Given the description of an element on the screen output the (x, y) to click on. 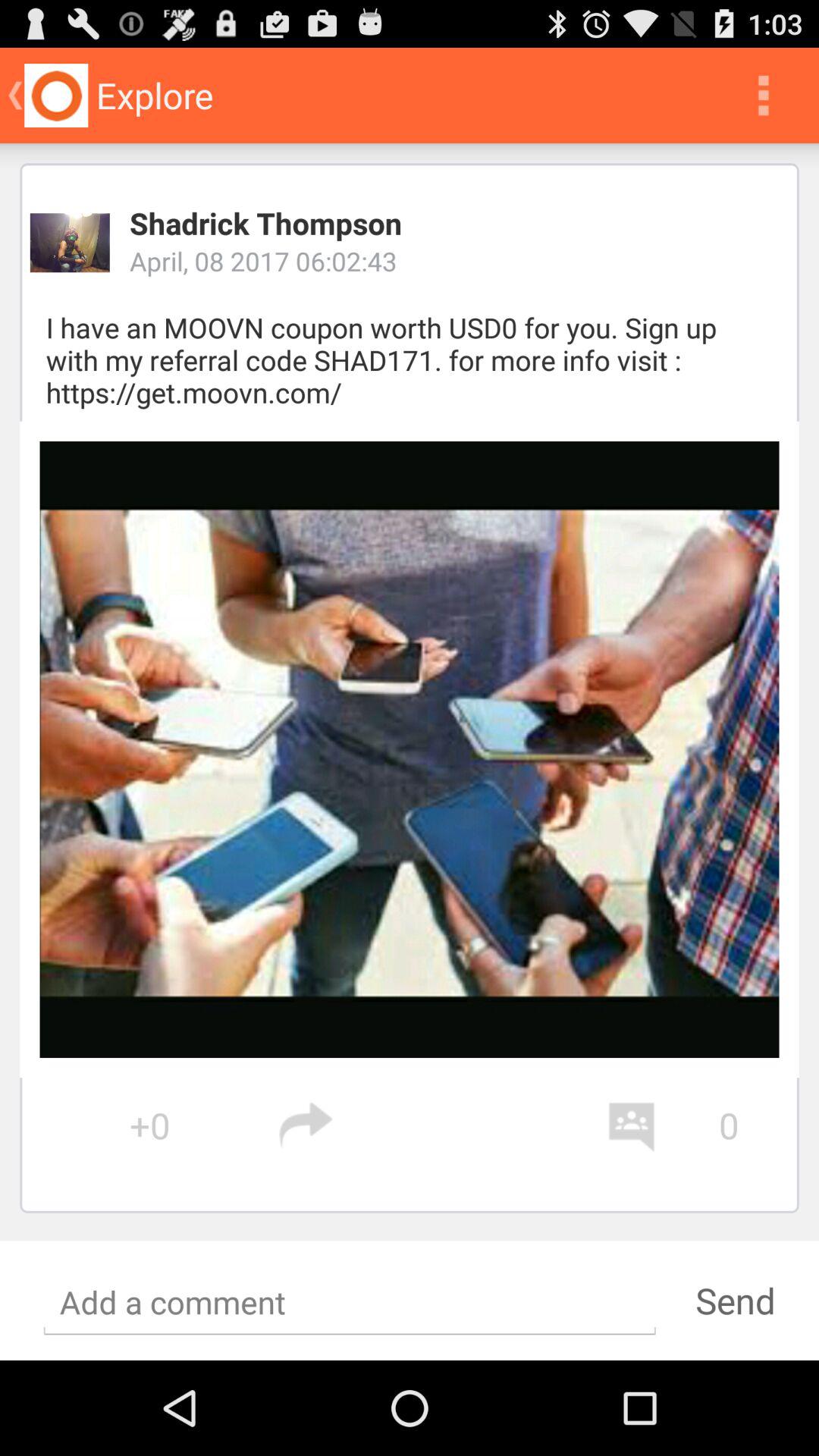
click on the field add a comment (349, 1302)
click on the image beside shadrick thompson (69, 242)
click on send at the bottom of the page (735, 1300)
click on the image at center of the page (409, 749)
